Given the description of an element on the screen output the (x, y) to click on. 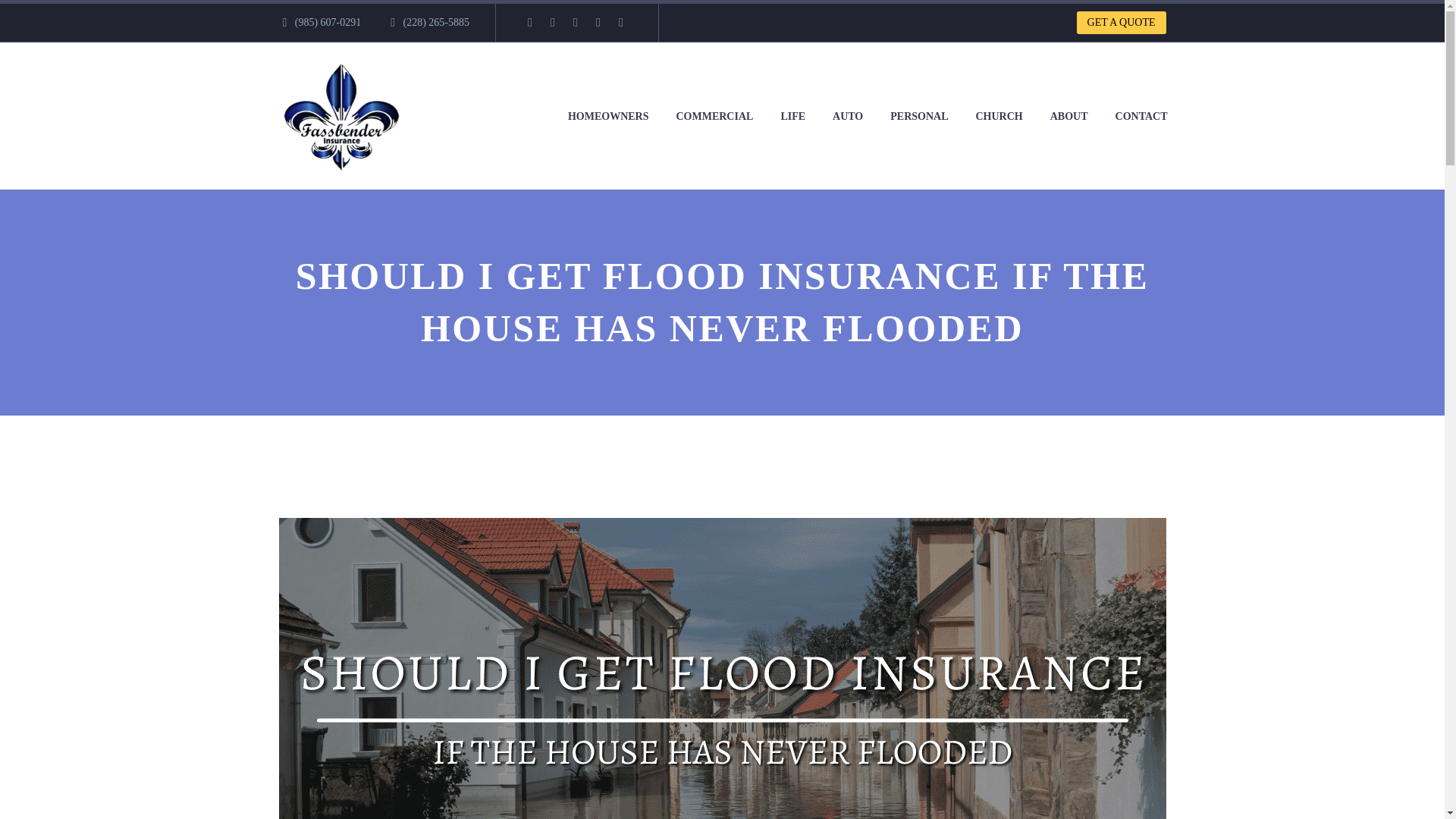
LIFE (792, 115)
PERSONAL (919, 115)
HOMEOWNERS (608, 115)
RSS (620, 22)
Contact Us (1141, 115)
CHURCH (998, 115)
COMMERCIAL (713, 115)
Personal Lines (919, 115)
ABOUT (1069, 115)
Auto Insurance (848, 115)
CONTACT (1141, 115)
Facebook (529, 22)
Pinterest (598, 22)
Homeowners Insurance (608, 115)
LinkedIn (552, 22)
